Given the description of an element on the screen output the (x, y) to click on. 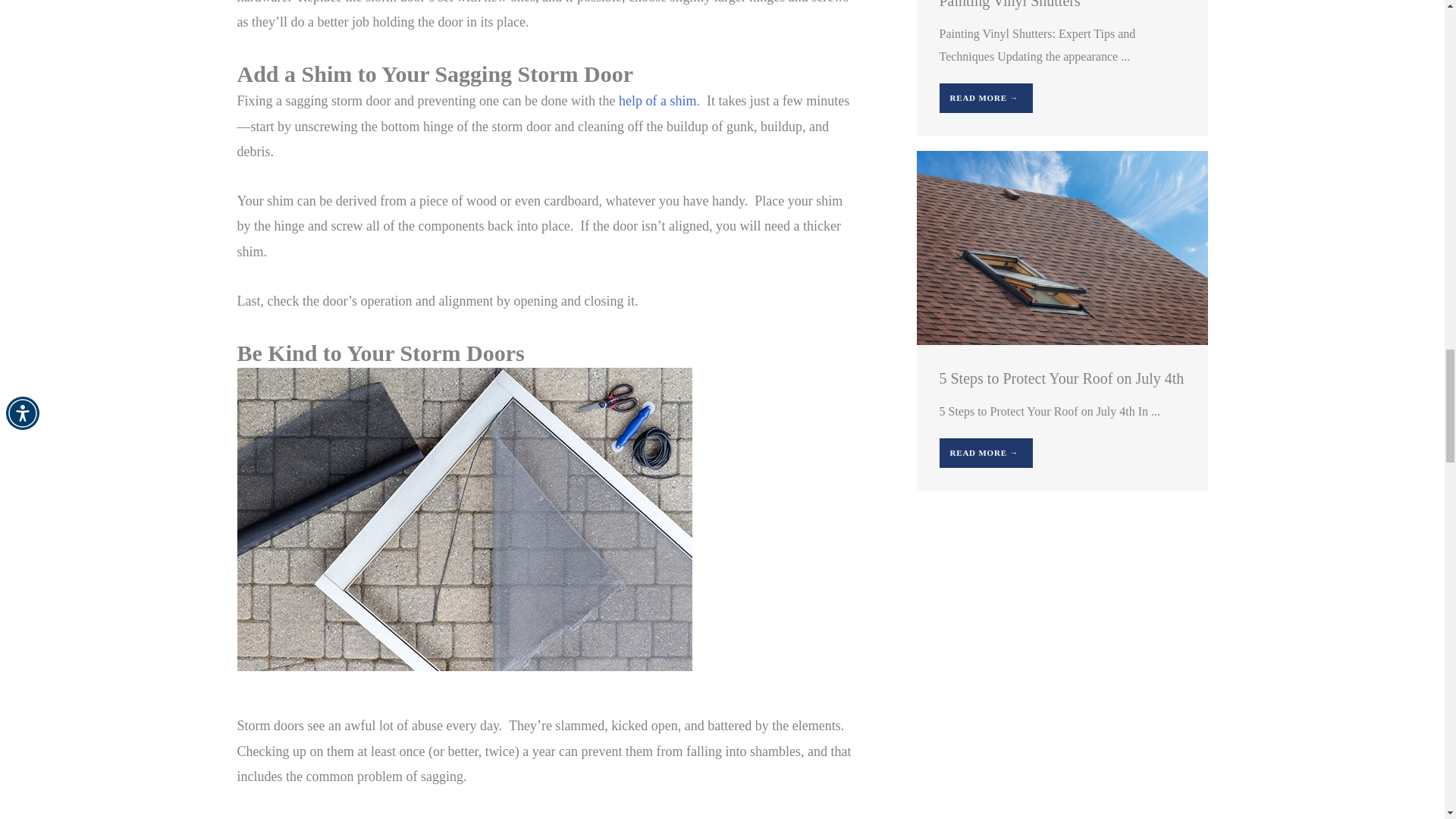
5 Steps to Protect Your Roof on July 4th (1061, 246)
